Given the description of an element on the screen output the (x, y) to click on. 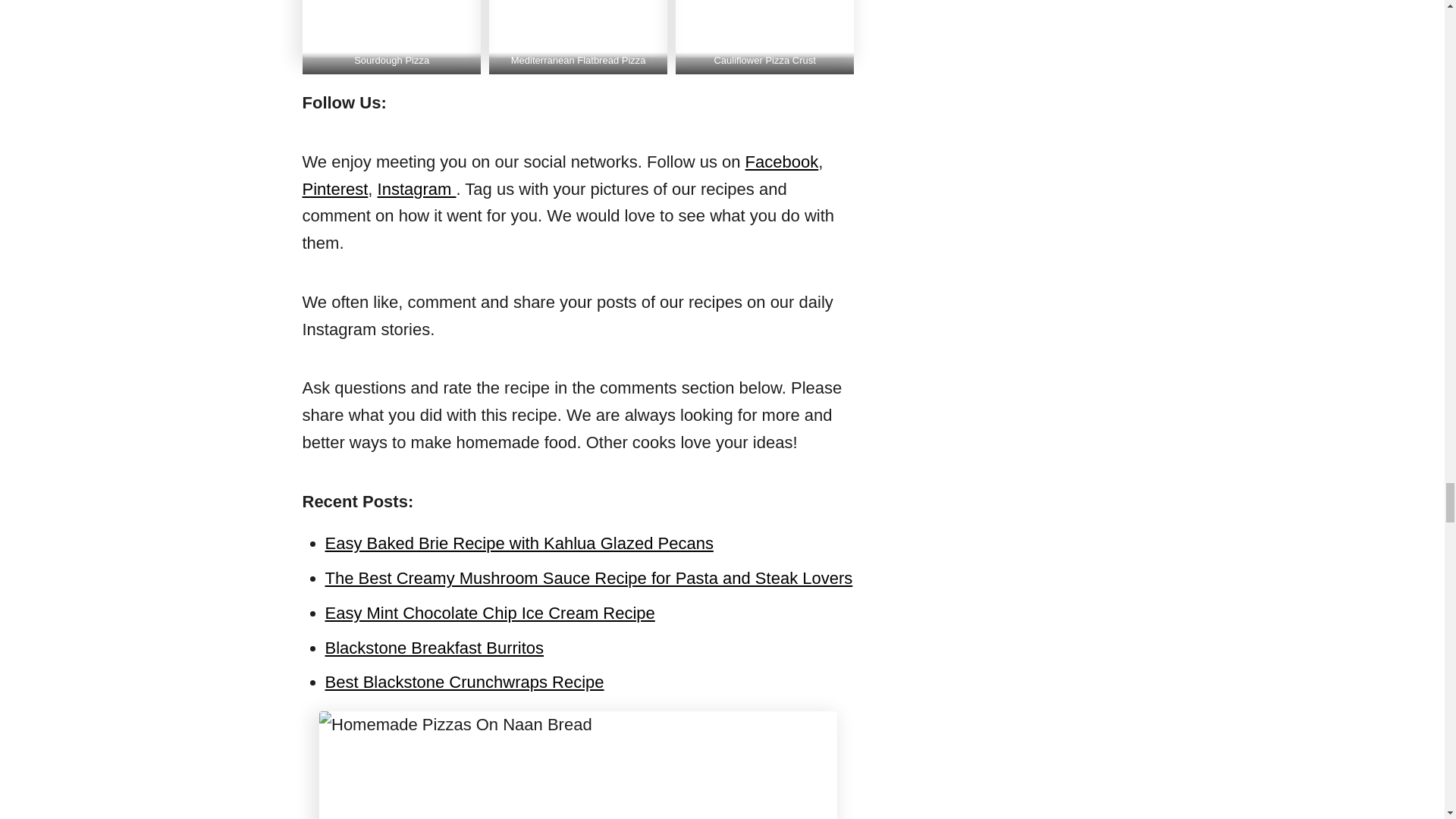
Homemade Pizzas On Indian Naan Bread 10 (764, 28)
Homemade Pizzas On Indian Naan Bread 9 (577, 28)
Homemade Pizzas On Indian Naan Bread 8 (390, 28)
